Given the description of an element on the screen output the (x, y) to click on. 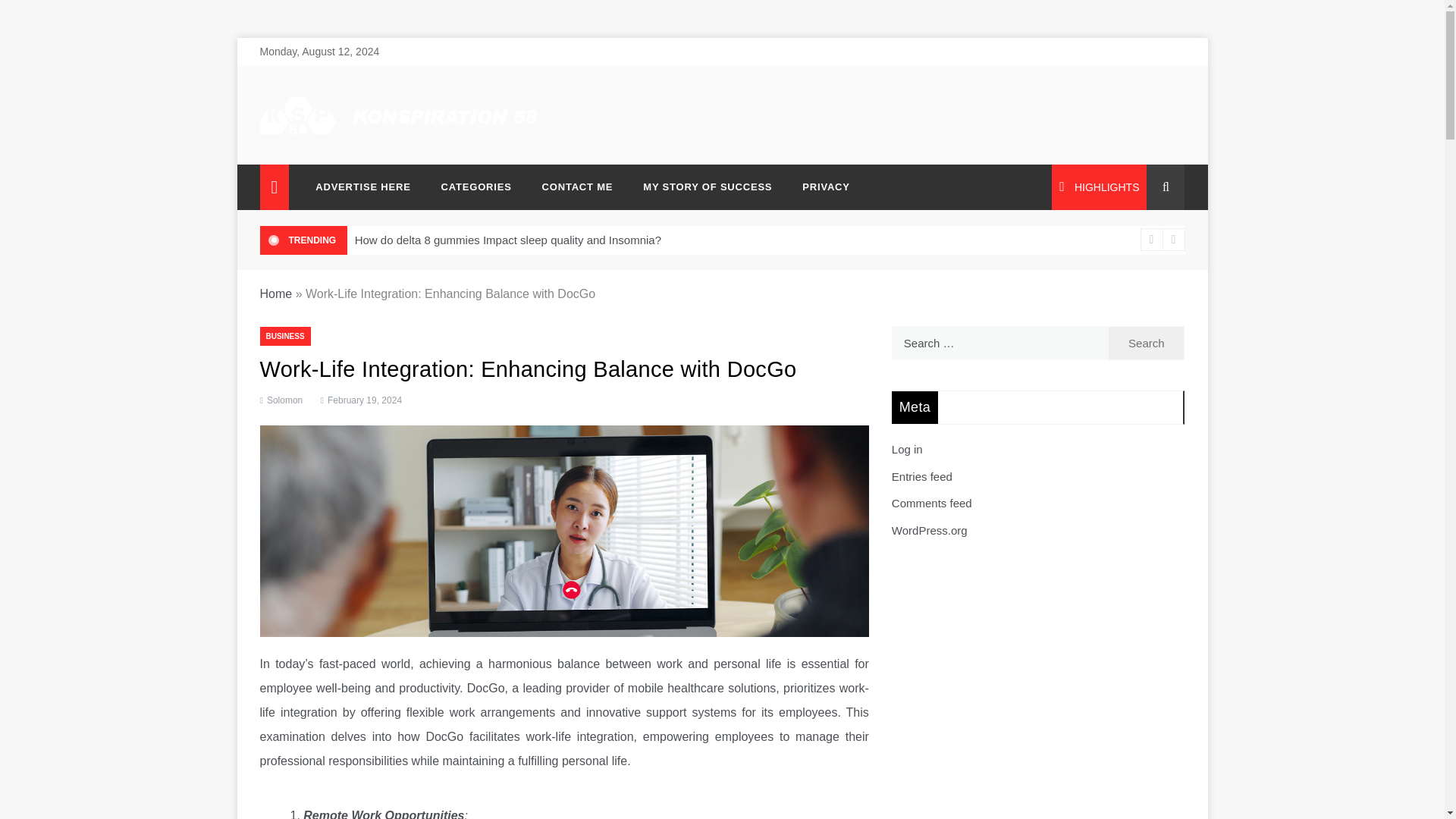
Search (1146, 342)
MY STORY OF SUCCESS (707, 186)
CONTACT ME (577, 186)
How do delta 8 gummies Impact sleep quality and Insomnia? (507, 240)
CATEGORIES (476, 186)
ADVERTISE HERE (362, 186)
HIGHLIGHTS (1099, 186)
A Light Up Ahead (345, 146)
PRIVACY (817, 186)
